Given the description of an element on the screen output the (x, y) to click on. 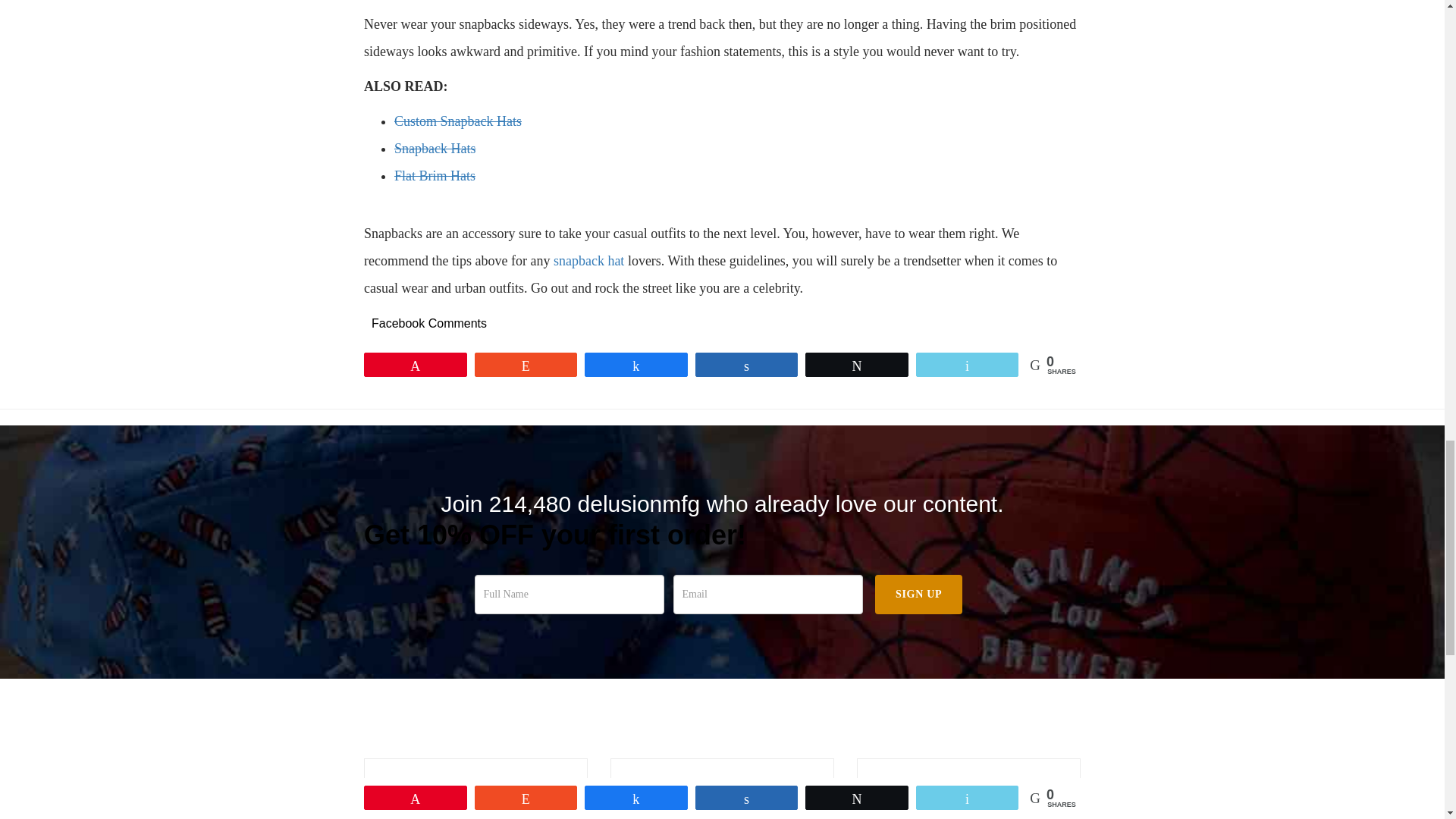
Flat Brim Hats (435, 175)
What is a Fedora Hat? (968, 785)
Sign up (918, 594)
Snapback Hats (435, 148)
Custom Snapback Hats (457, 120)
Sign up (918, 594)
snapback hat (588, 260)
What Hat Size is Large (475, 785)
What is a Bucket Hat? (721, 785)
